Given the description of an element on the screen output the (x, y) to click on. 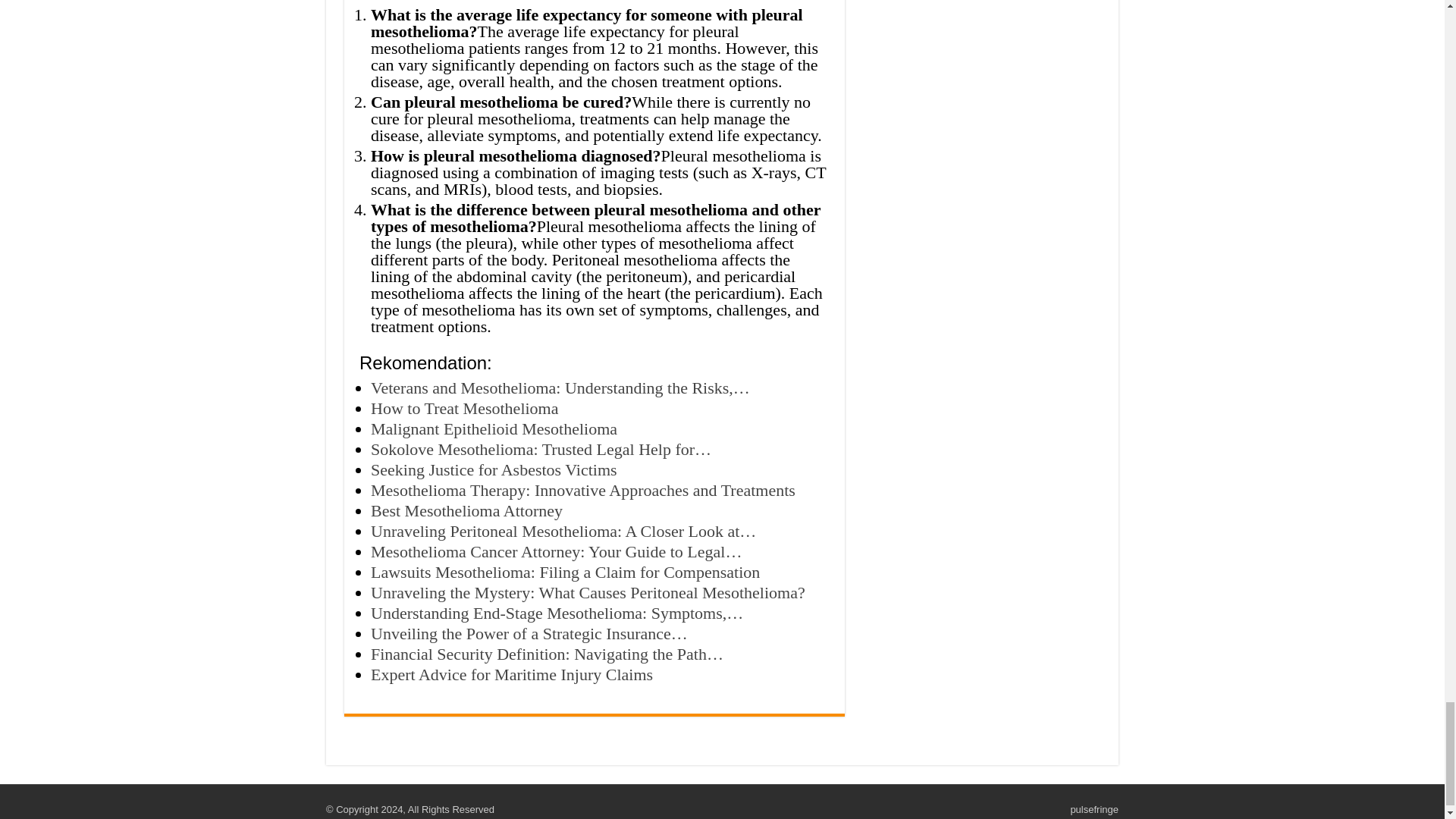
Mesothelioma Therapy: Innovative Approaches and Treatments (582, 489)
Lawsuits Mesothelioma: Filing a Claim for Compensation (565, 571)
Seeking Justice for Asbestos Victims (494, 469)
Malignant Epithelioid Mesothelioma (494, 428)
Best Mesothelioma Attorney (466, 510)
How to Treat Mesothelioma (465, 407)
